Given the description of an element on the screen output the (x, y) to click on. 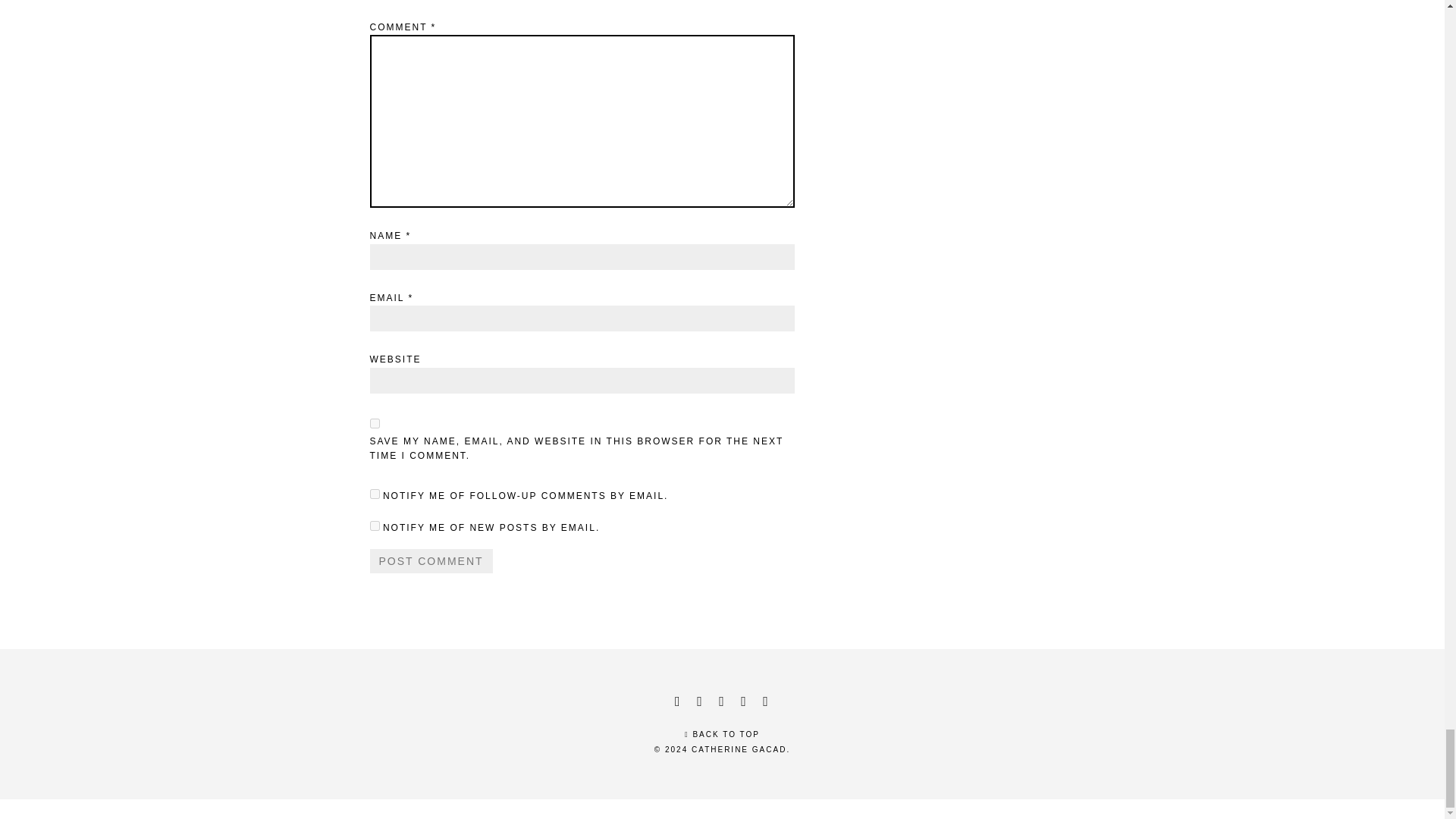
subscribe (374, 493)
yes (374, 423)
subscribe (374, 525)
Post Comment (431, 560)
